Given the description of an element on the screen output the (x, y) to click on. 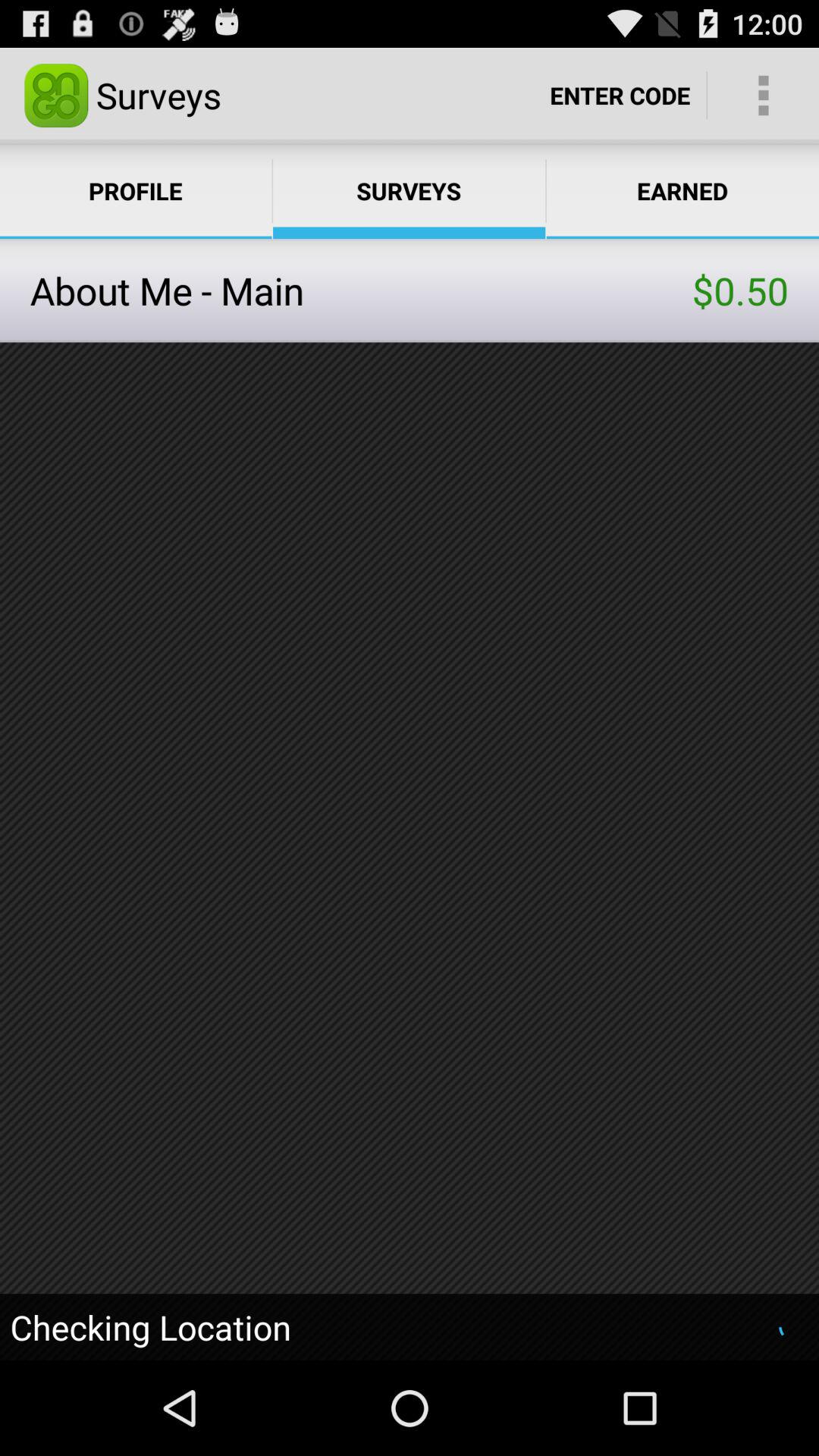
select the option enter code (619, 95)
